Given the description of an element on the screen output the (x, y) to click on. 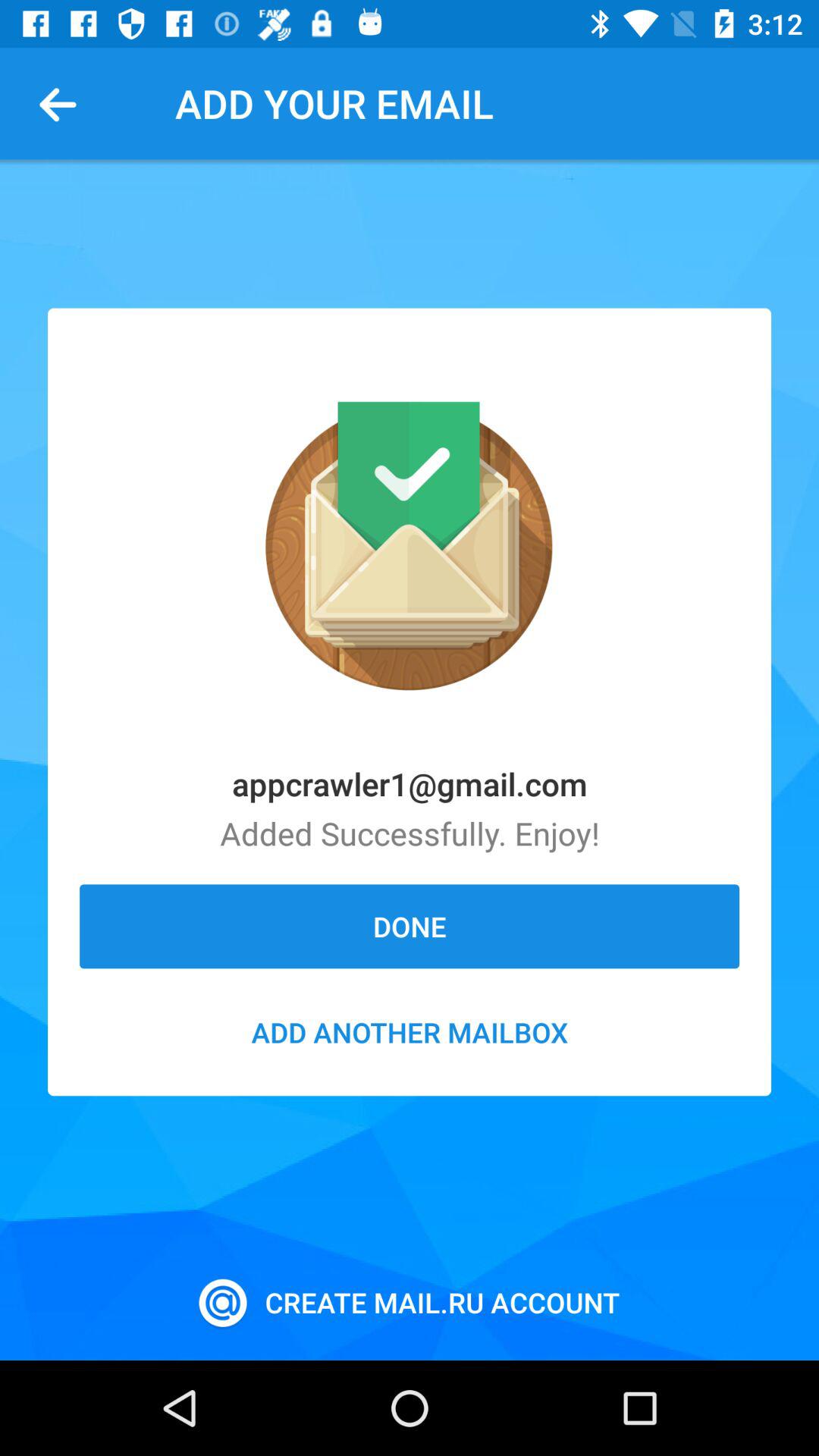
press the icon below added successfully. enjoy! (409, 926)
